Given the description of an element on the screen output the (x, y) to click on. 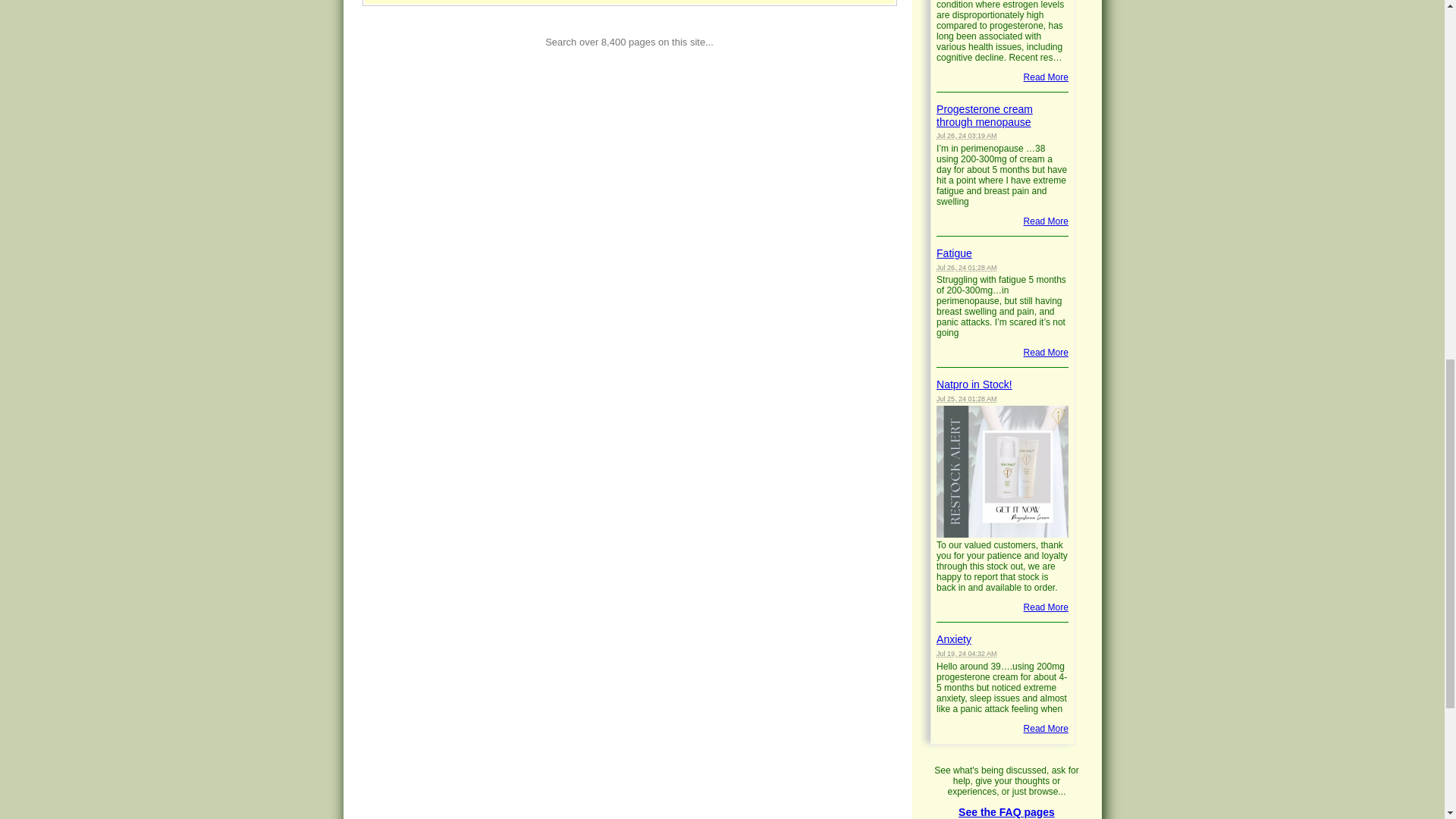
2024-07-19T04:32:49-0400 (966, 653)
2024-07-26T01:28:12-0400 (966, 267)
2024-07-25T01:28:05-0400 (966, 398)
2024-07-26T03:19:18-0400 (966, 135)
